Given the description of an element on the screen output the (x, y) to click on. 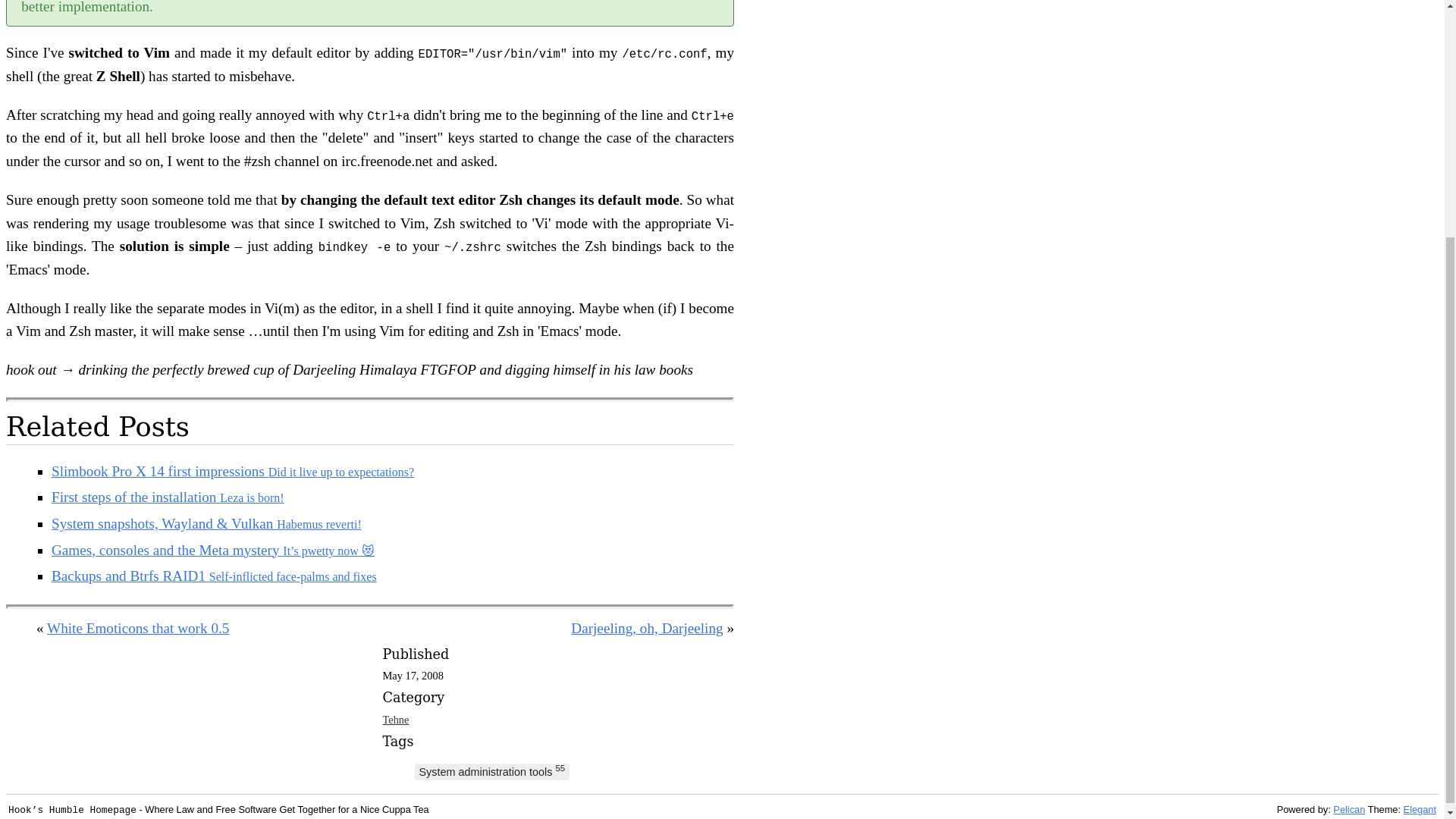
System administration tools 55 (491, 771)
Next: Darjeeling, oh, Darjeeling (646, 627)
Backups and Btrfs RAID1 Self-inflicted face-palms and fixes (213, 575)
Pelican Home Page (1349, 808)
First steps of the installation Leza is born! (166, 496)
Previous: White Emoticons that work 0.5 (137, 627)
White Emoticons that work 0.5 (137, 627)
Darjeeling, oh, Darjeeling (646, 627)
First steps of the installation - Leza is born! (166, 496)
Tehne (395, 719)
Pelican (1349, 808)
